Given the description of an element on the screen output the (x, y) to click on. 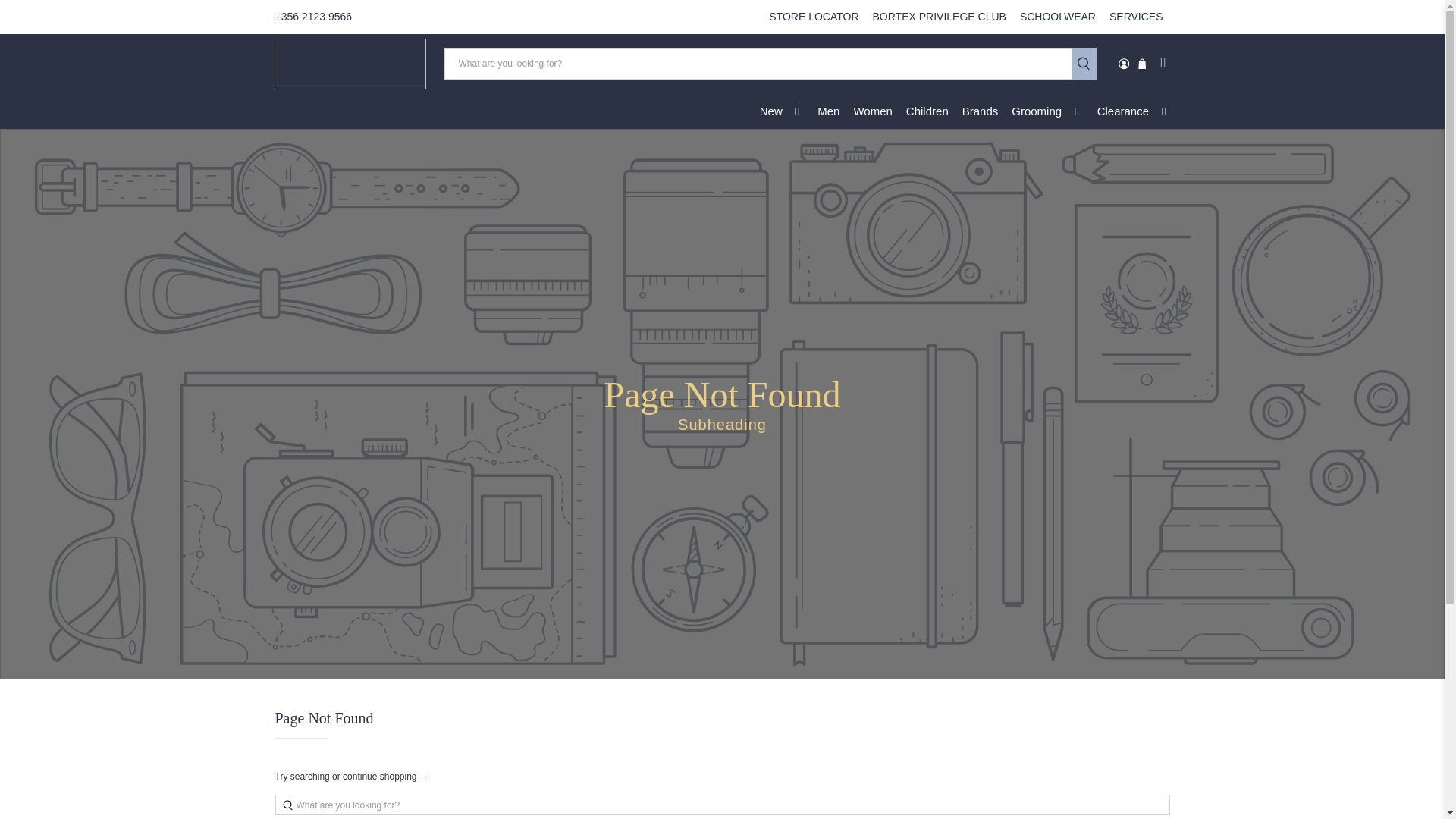
Children (927, 111)
BORTEX PRIVILEGE CLUB (939, 17)
New (781, 111)
Bortex Fine Tailoring (350, 63)
STORE LOCATOR (812, 17)
Men (827, 111)
Women (871, 111)
Grooming (1046, 111)
Brands (980, 111)
Clearance (1133, 111)
SCHOOLWEAR (1057, 17)
SERVICES (1136, 17)
